Given the description of an element on the screen output the (x, y) to click on. 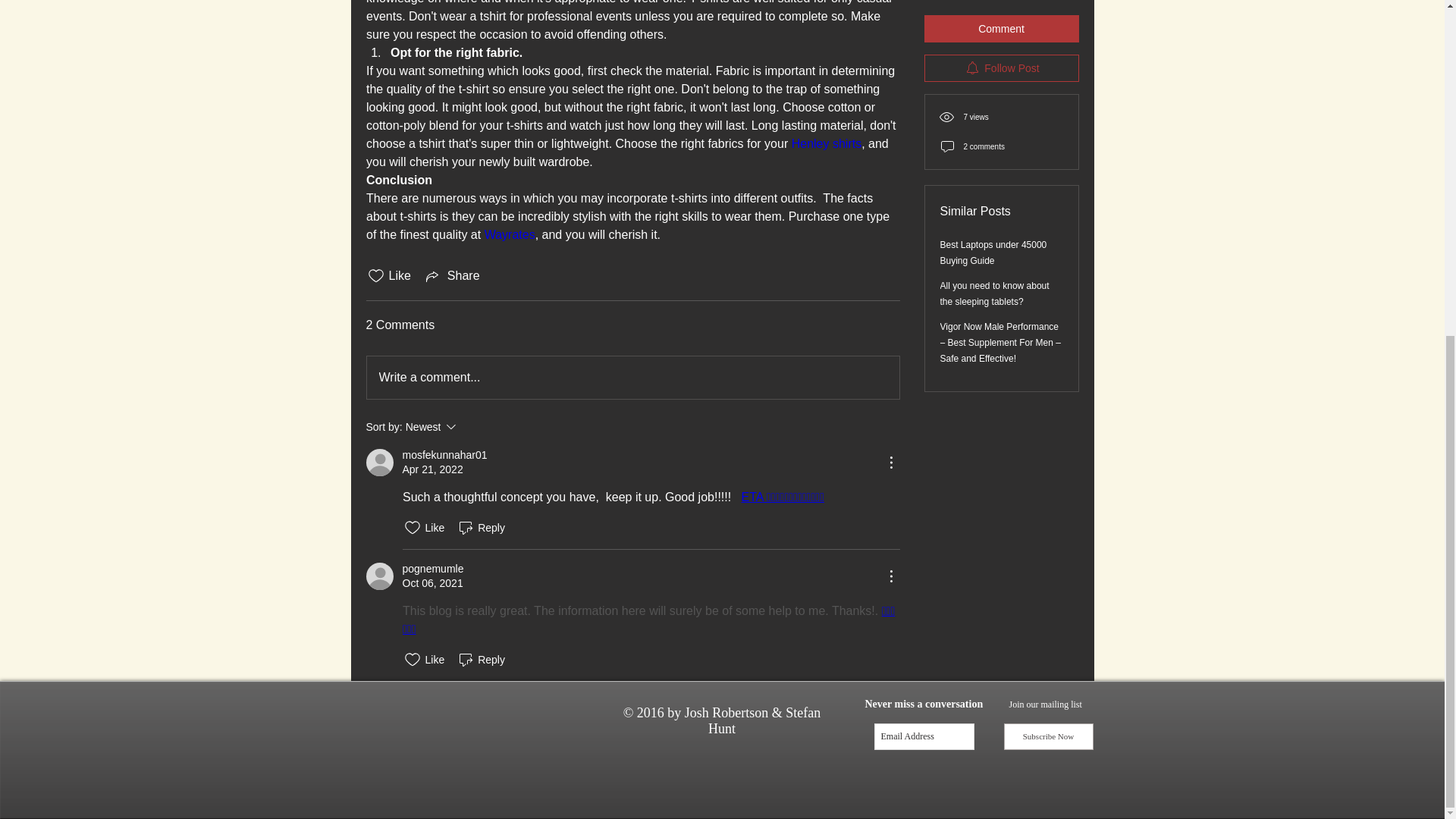
Henley shirts (825, 143)
pognemumle (432, 568)
Write a comment... (632, 377)
Reply (481, 659)
Reply (481, 527)
mosfekunnahar01 (471, 426)
Wayrates (443, 454)
Share (508, 234)
